Given the description of an element on the screen output the (x, y) to click on. 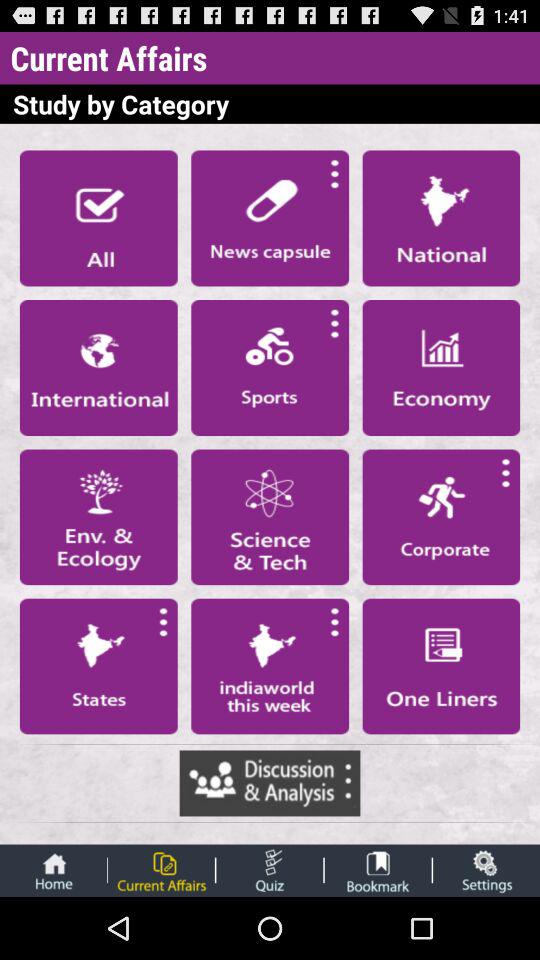
change current settings (486, 870)
